Given the description of an element on the screen output the (x, y) to click on. 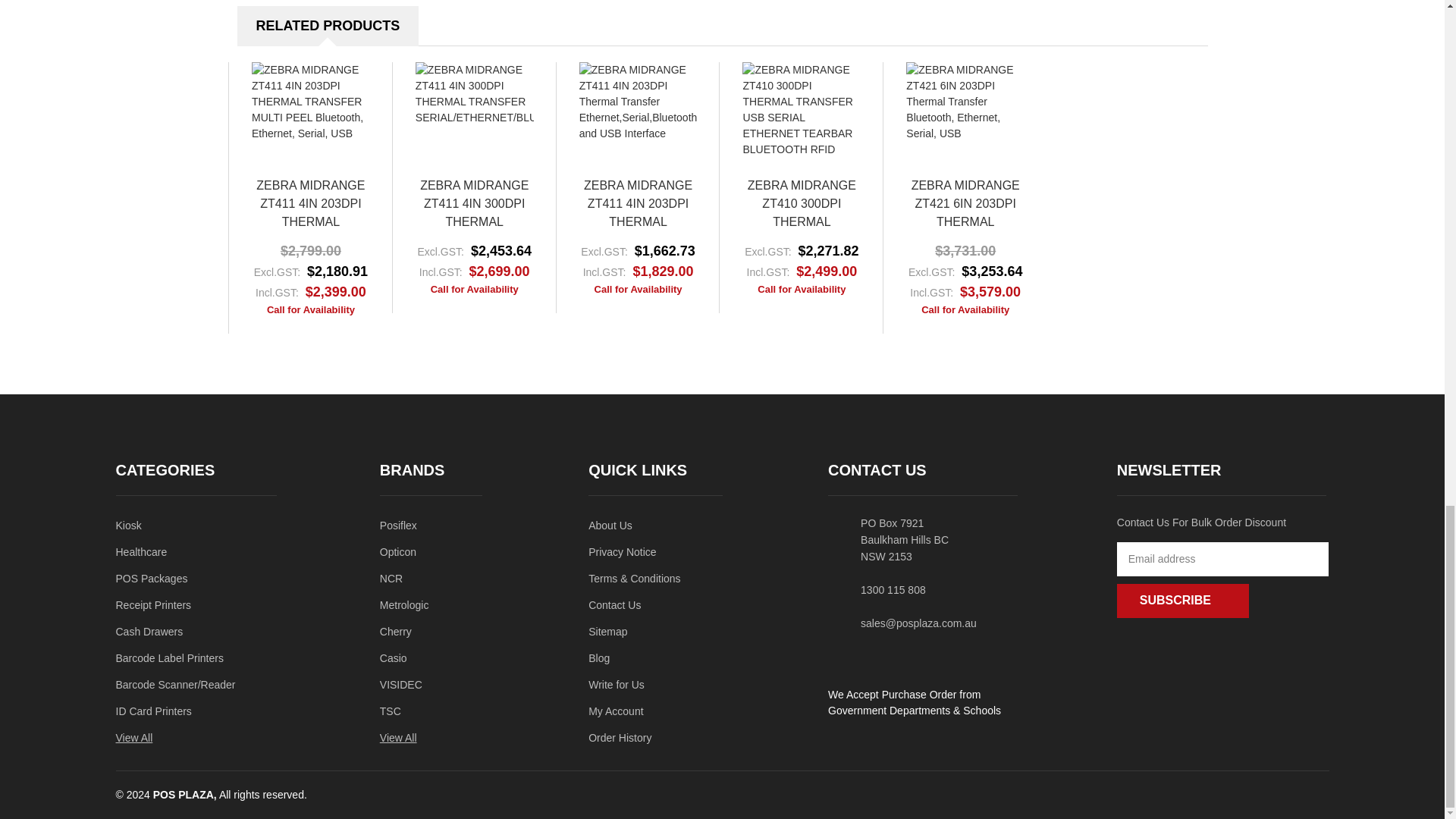
Subscribe (1182, 600)
